Given the description of an element on the screen output the (x, y) to click on. 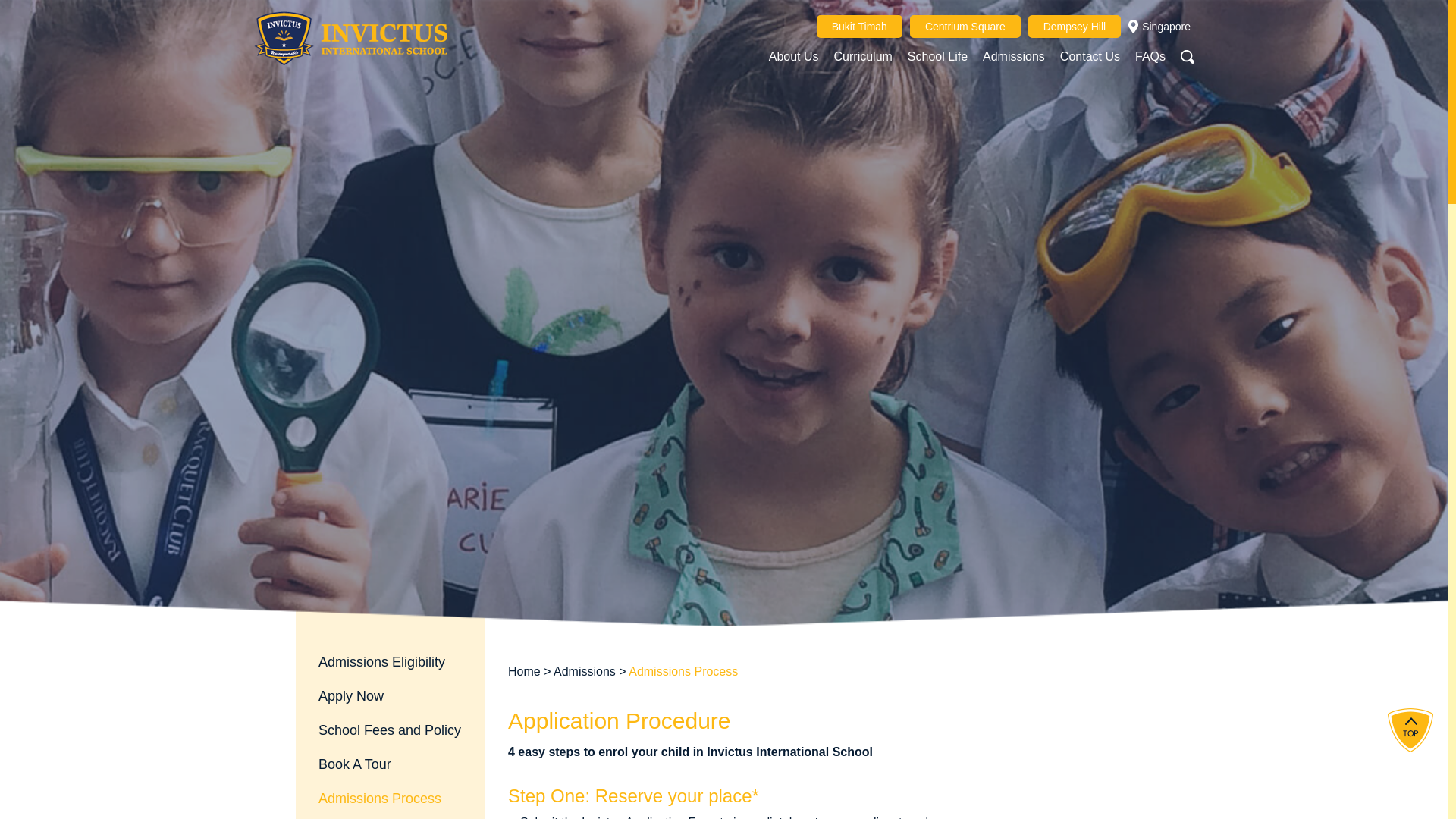
About Us (793, 56)
Dempsey Hill (1074, 26)
Curriculum (863, 56)
Bukit Timah (859, 26)
Invictus International School (349, 38)
Home (524, 671)
Contact Us (1089, 56)
School Life (937, 56)
Admissions (1013, 56)
Centrium Square (965, 26)
